Given the description of an element on the screen output the (x, y) to click on. 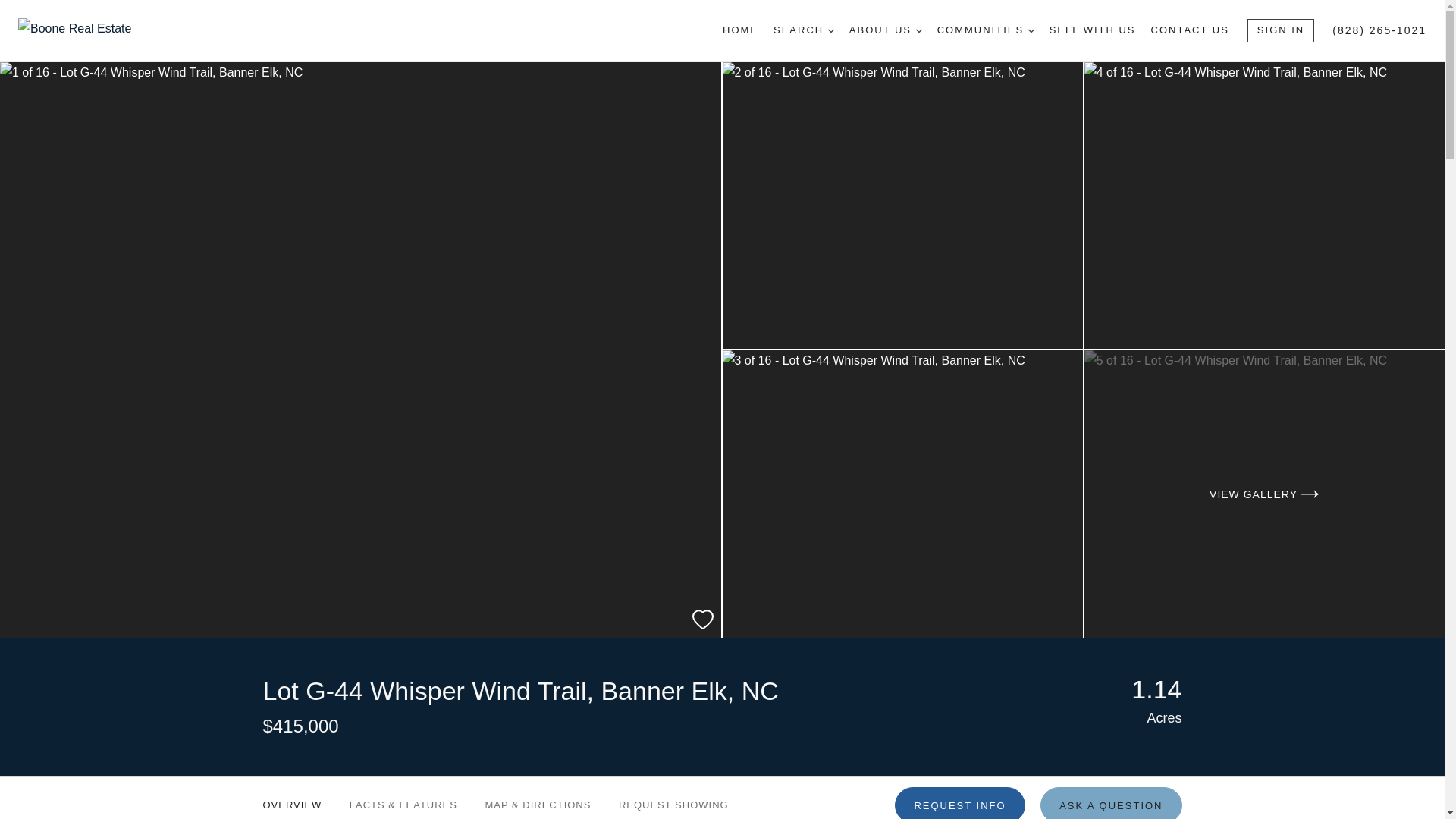
ABOUT US DROPDOWN ARROW (884, 30)
DROPDOWN ARROW (1030, 30)
COMMUNITIES DROPDOWN ARROW (985, 30)
SIGN IN (1280, 30)
DROPDOWN ARROW (831, 30)
DROPDOWN ARROW (918, 30)
SEARCH DROPDOWN ARROW (803, 30)
SELL WITH US (1092, 30)
CONTACT US (1189, 30)
HOME (740, 30)
